Given the description of an element on the screen output the (x, y) to click on. 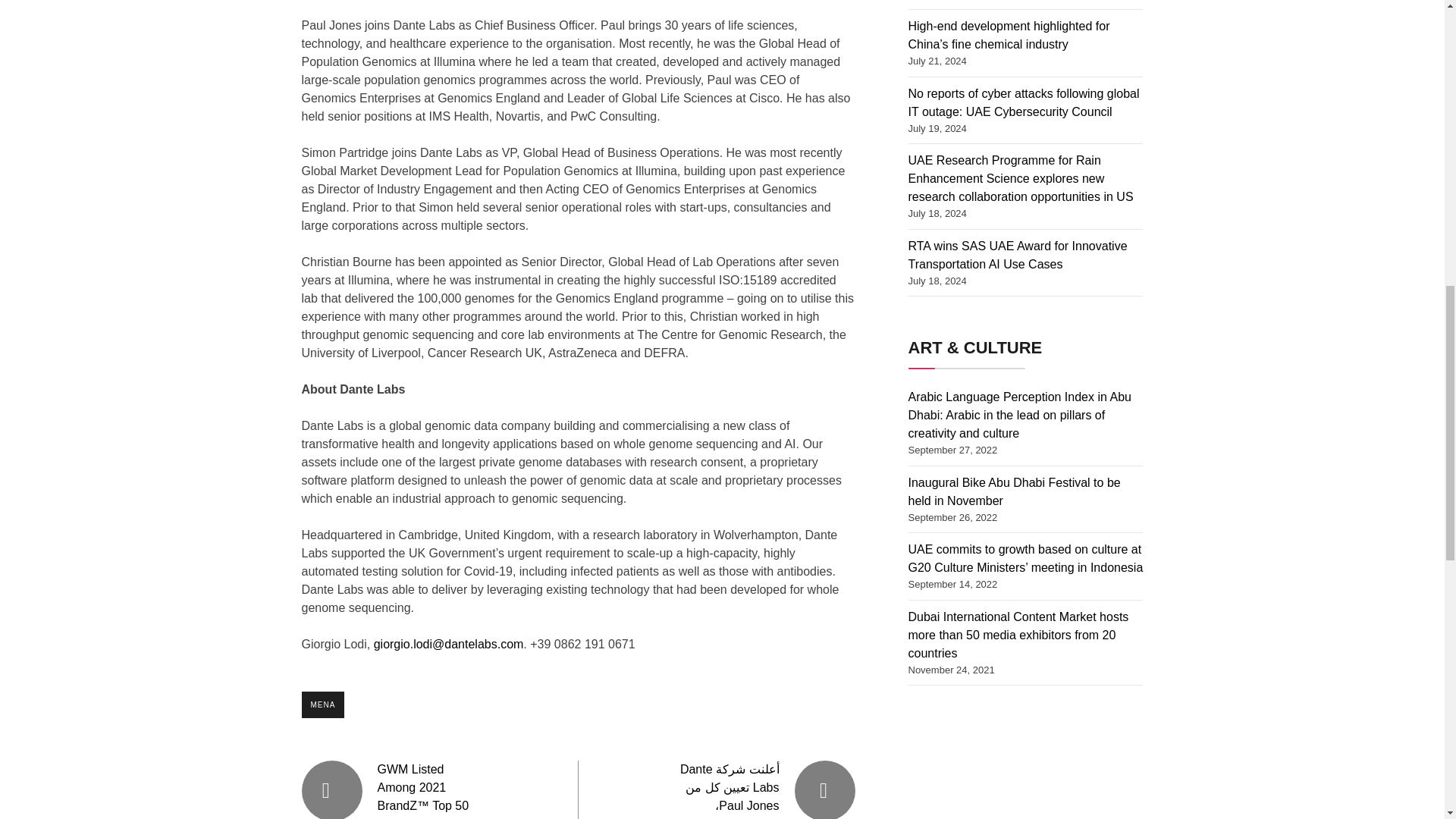
MENA (323, 704)
Inaugural Bike Abu Dhabi Festival to be held in November (1014, 490)
